Given the description of an element on the screen output the (x, y) to click on. 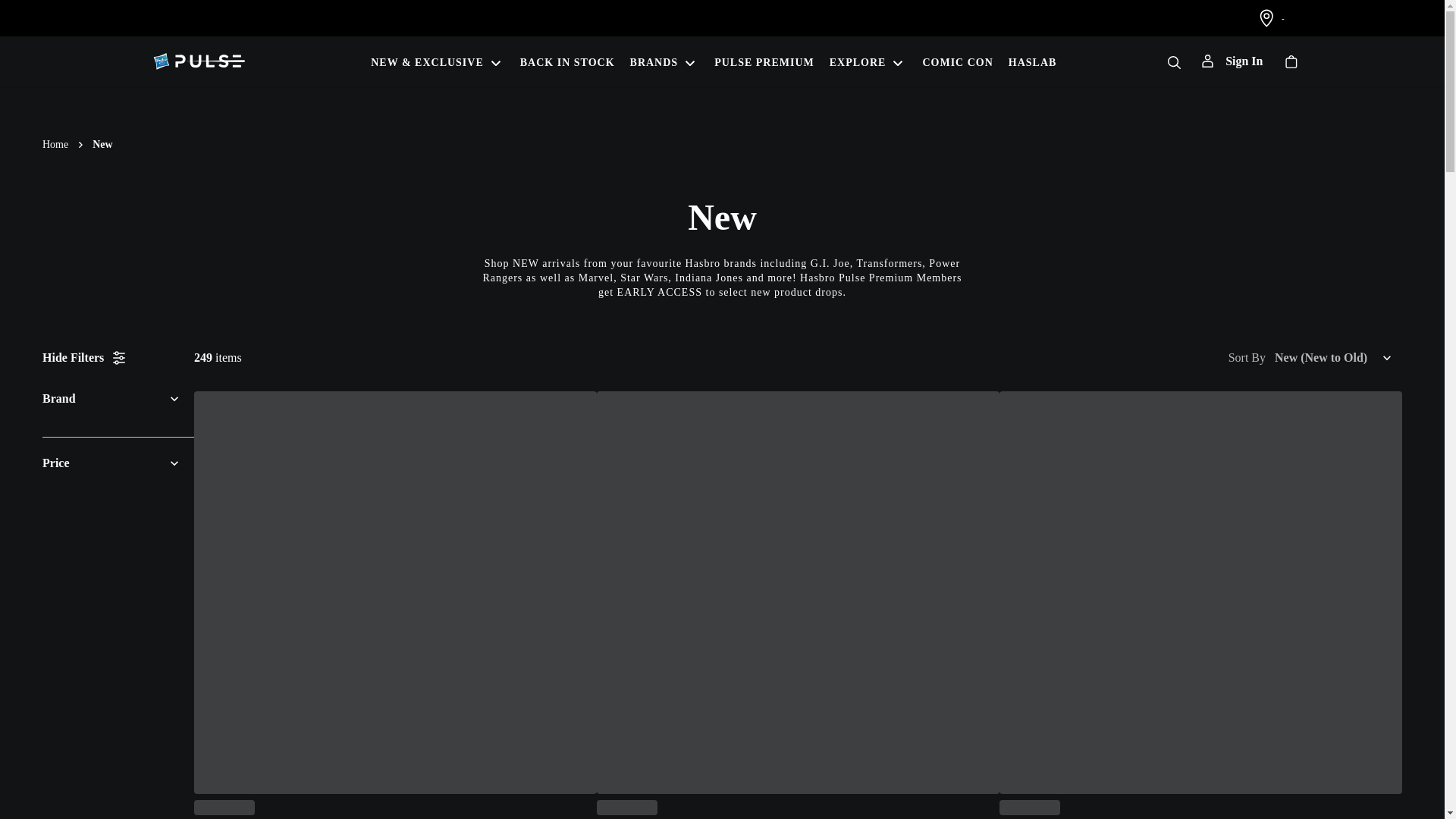
PULSE PREMIUM (763, 60)
Sign In (1231, 60)
COMIC CON (956, 60)
BACK IN STOCK (566, 60)
HASLAB (1032, 60)
BRANDS (665, 60)
EXPLORE (869, 60)
